Given the description of an element on the screen output the (x, y) to click on. 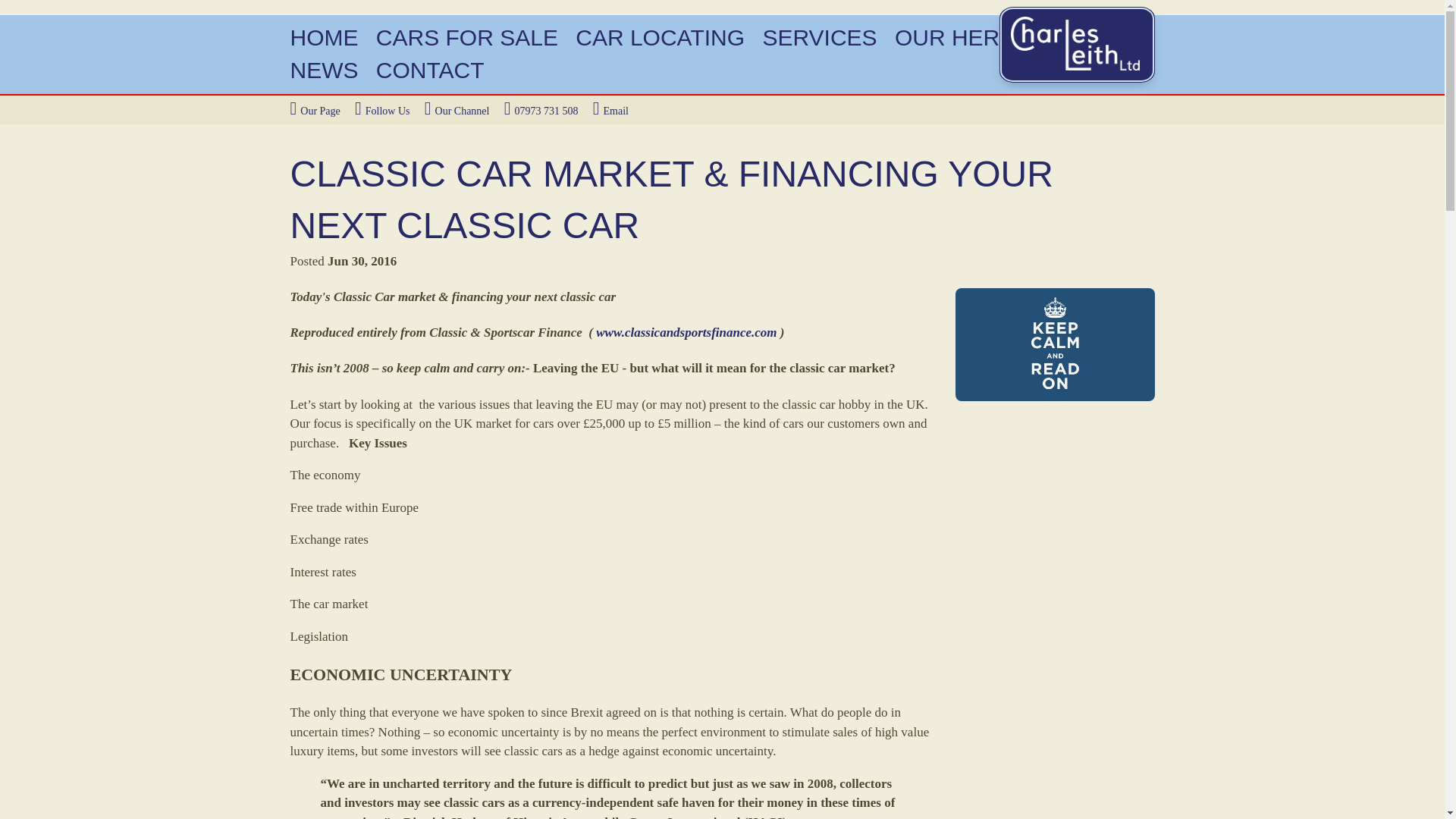
Email (610, 111)
www.classicandsportsfinance.com (685, 332)
CONTACT (429, 69)
OUR HERITAGE (980, 37)
Follow Us (382, 111)
CAR LOCATING (659, 37)
07973 731 508 (540, 111)
NEWS (323, 69)
Our Page (314, 111)
SERVICES (818, 37)
